Given the description of an element on the screen output the (x, y) to click on. 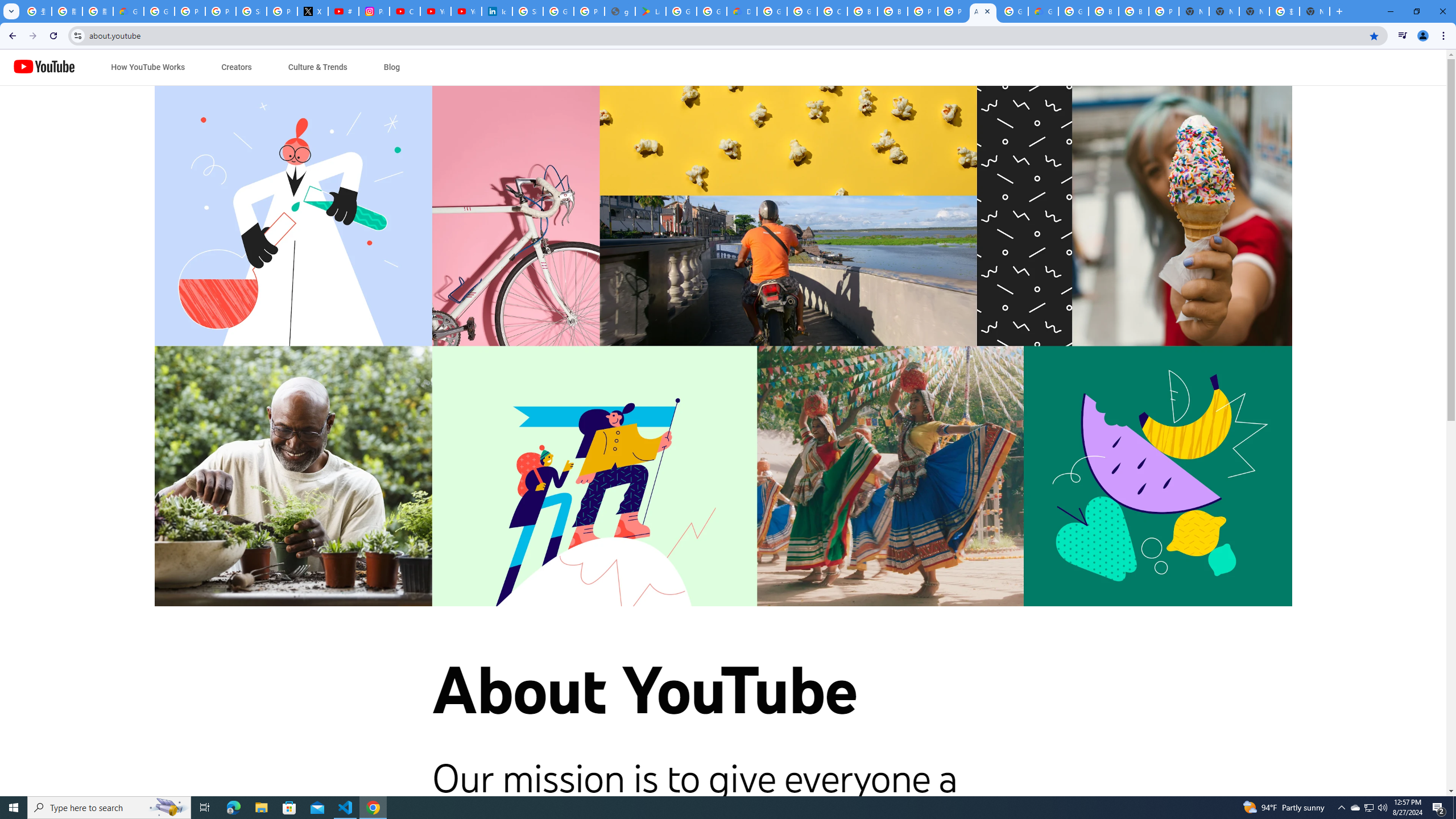
google_privacy_policy_en.pdf (619, 11)
How YouTube Works (147, 67)
Sign in - Google Accounts (251, 11)
Culture & Trends (317, 67)
Last Shelter: Survival - Apps on Google Play (650, 11)
Google Cloud Platform (1012, 11)
